Given the description of an element on the screen output the (x, y) to click on. 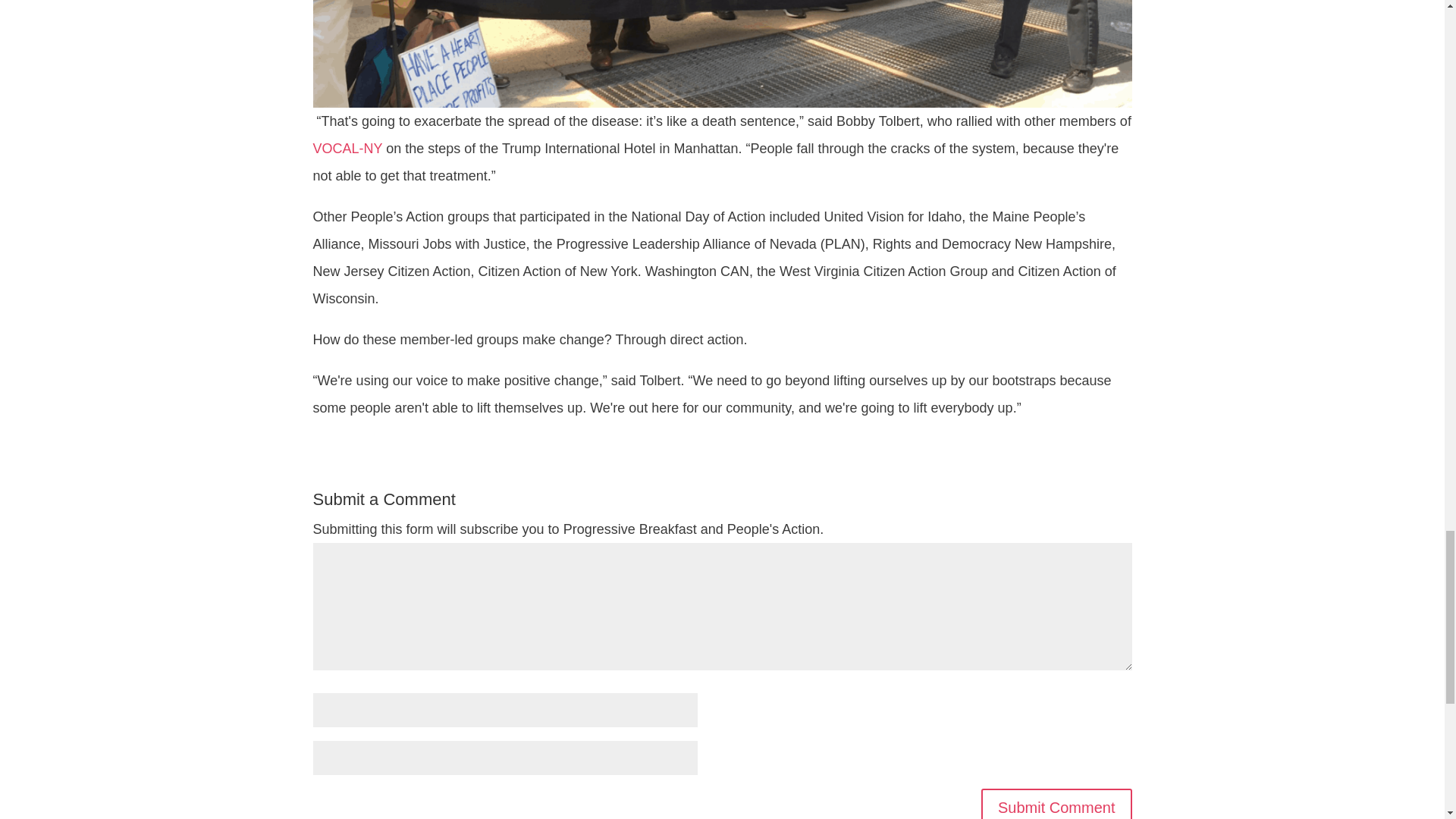
Submit Comment (1056, 803)
VOCAL-NY (347, 148)
Submit Comment (1056, 803)
